Given the description of an element on the screen output the (x, y) to click on. 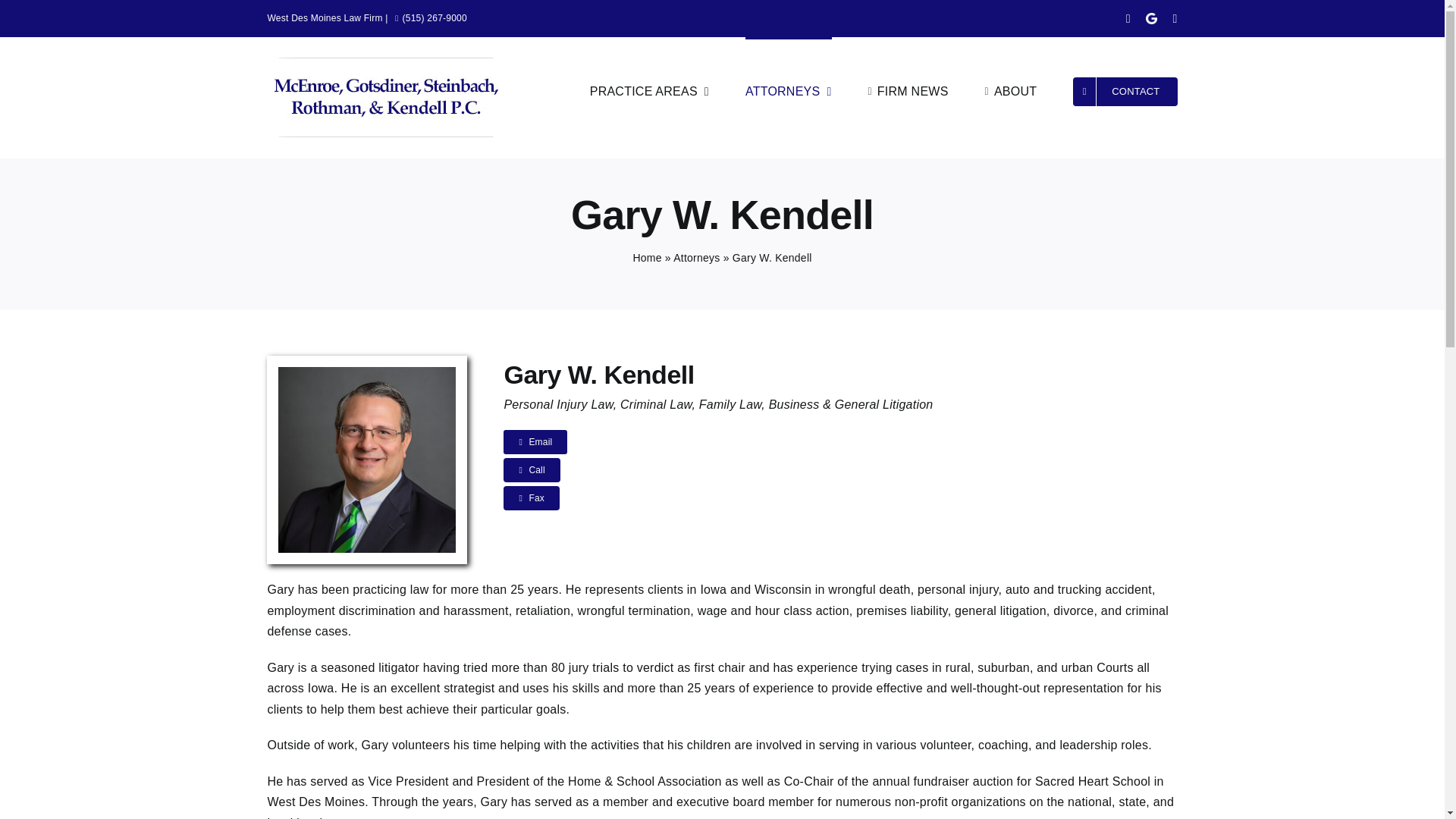
Google (1151, 18)
CONTACT (1124, 89)
Google (1151, 18)
PRACTICE AREAS (649, 89)
